Given the description of an element on the screen output the (x, y) to click on. 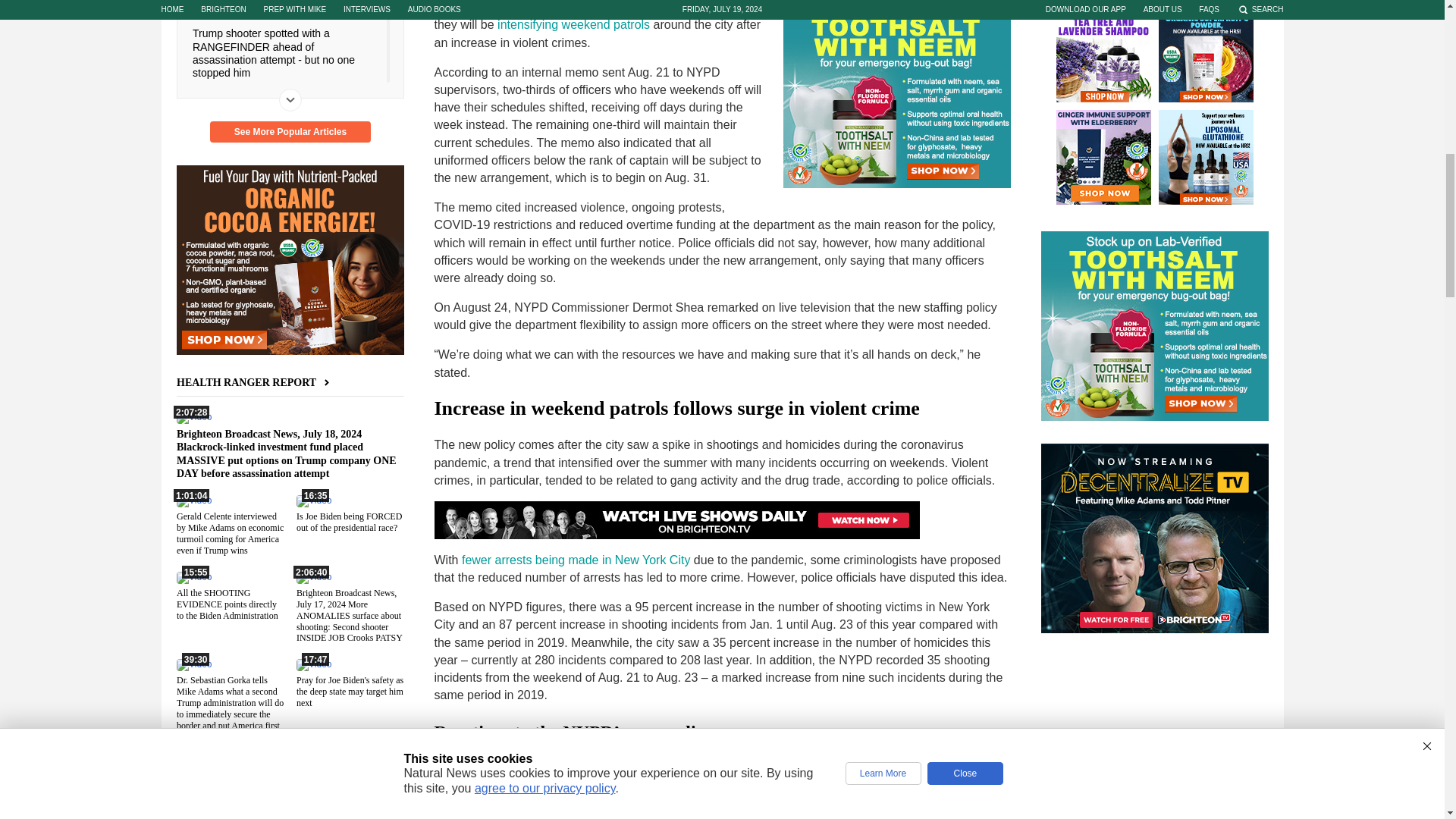
Scroll Down (290, 99)
